Given the description of an element on the screen output the (x, y) to click on. 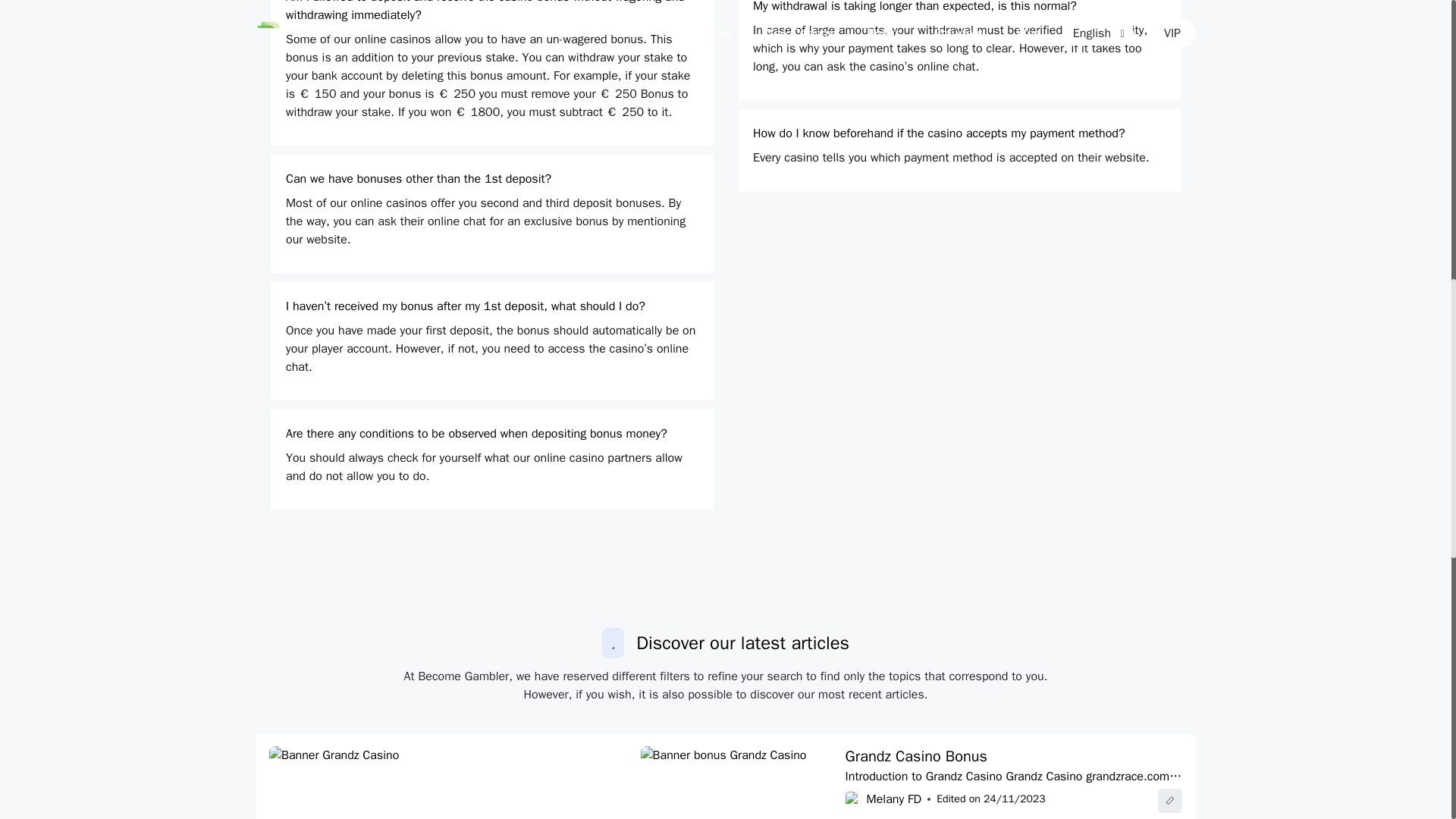
Melany FD (893, 799)
Grandz Casino Bonus (916, 756)
